Given the description of an element on the screen output the (x, y) to click on. 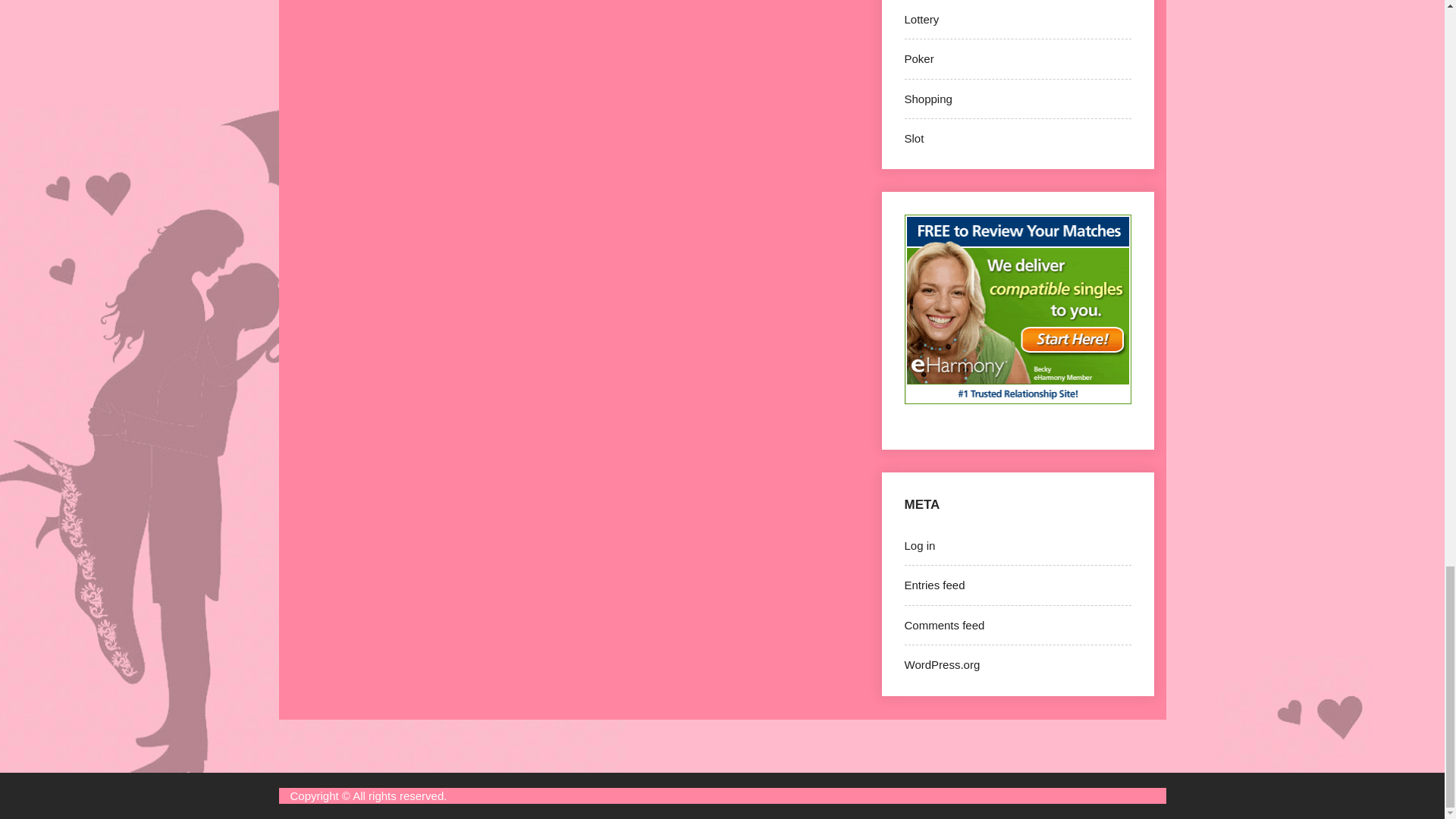
Slot (913, 137)
Lottery (921, 19)
Poker (918, 58)
Shopping (928, 98)
